Given the description of an element on the screen output the (x, y) to click on. 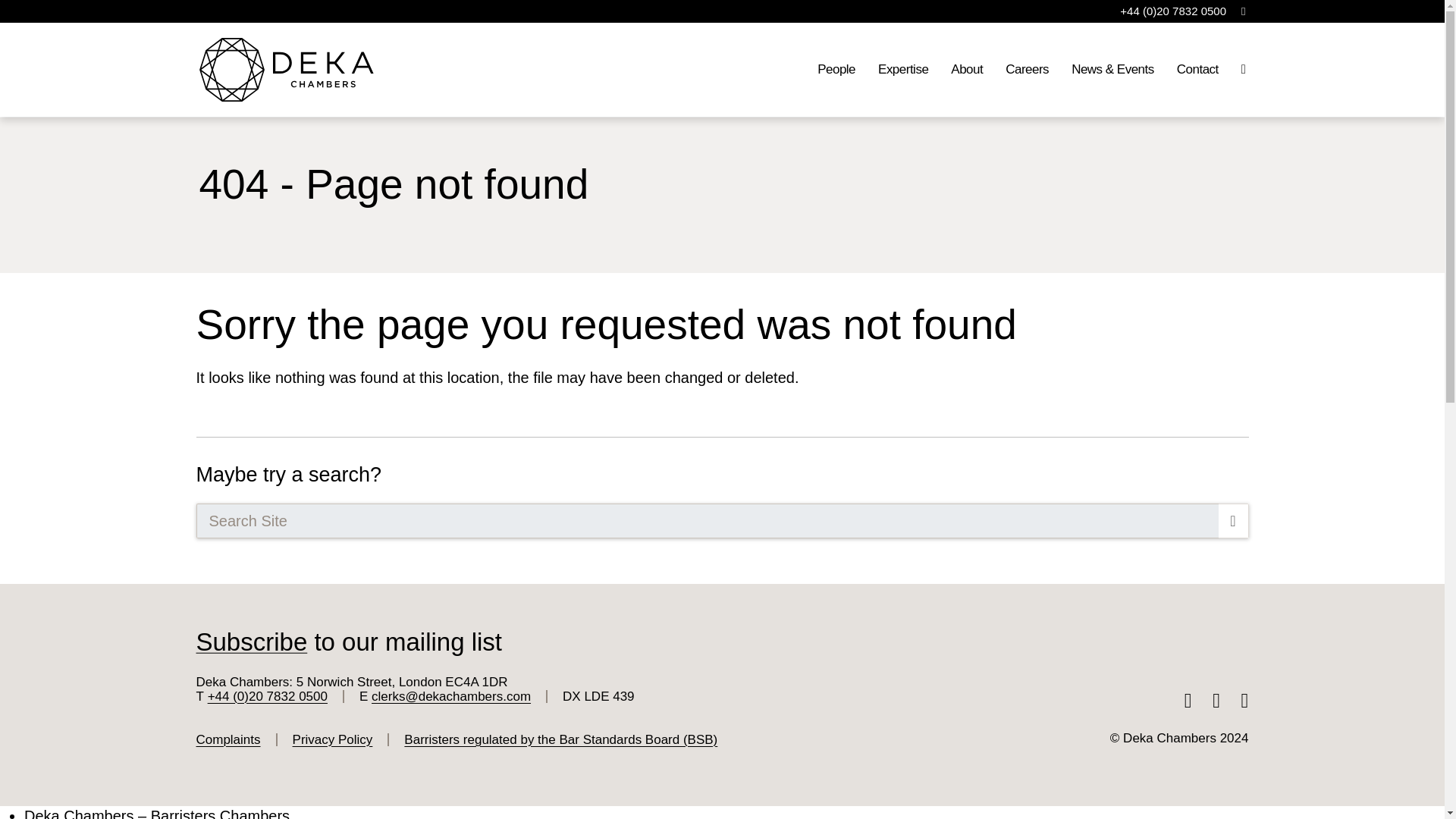
About (966, 69)
Expertise (902, 69)
People (836, 69)
Careers (1027, 69)
Contact (1197, 69)
